Given the description of an element on the screen output the (x, y) to click on. 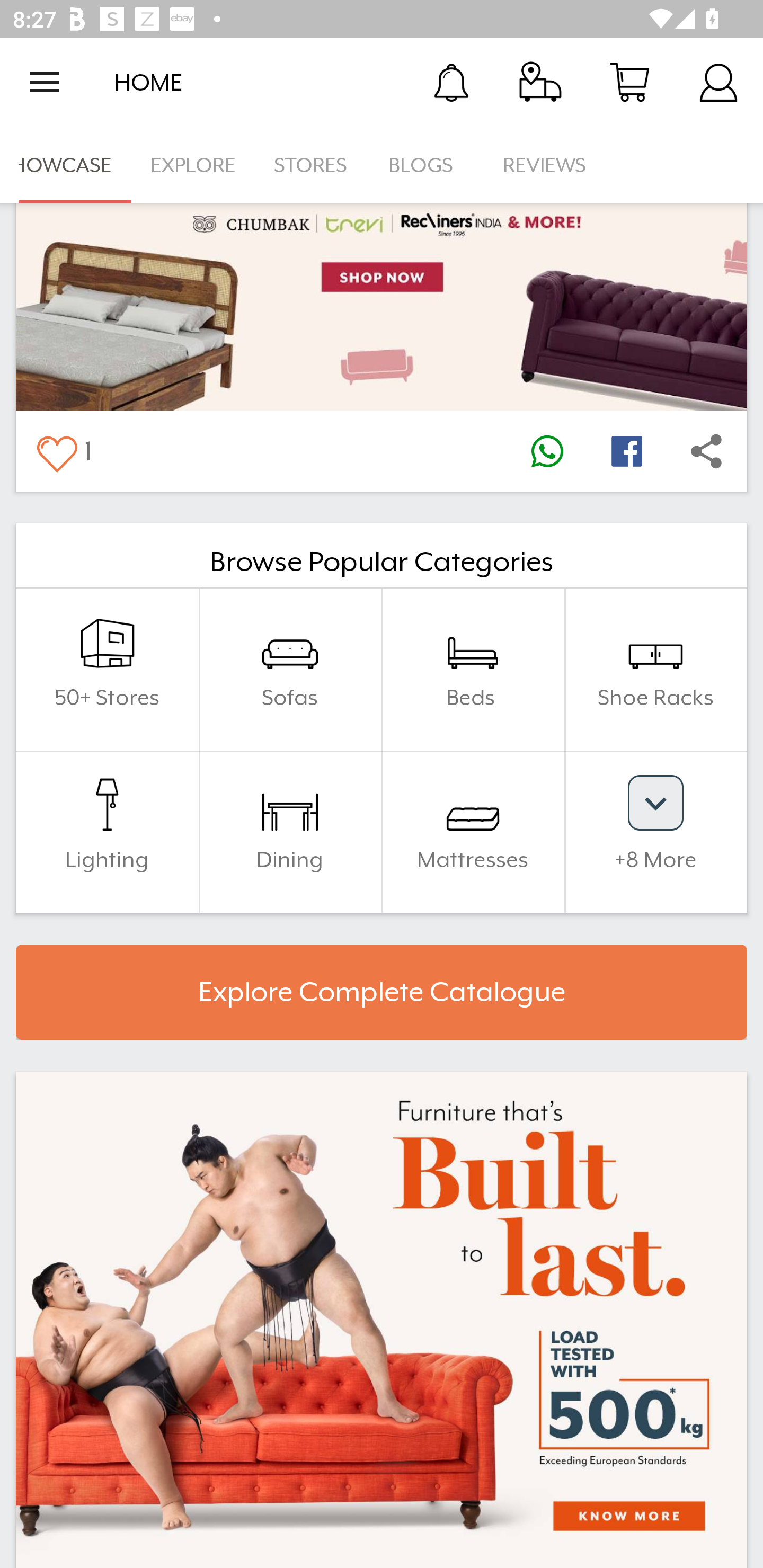
Open navigation drawer (44, 82)
Notification (450, 81)
Track Order (540, 81)
Cart (629, 81)
Account Details (718, 81)
SHOWCASE (65, 165)
EXPLORE (192, 165)
STORES (311, 165)
BLOGS (426, 165)
REVIEWS (544, 165)
 (55, 450)
 (547, 450)
 (626, 450)
 (706, 450)
50+ Stores (106, 669)
Sofas (289, 669)
Beds  (473, 669)
Shoe Racks (655, 669)
Lighting (106, 831)
Dining (289, 831)
Mattresses (473, 831)
 +8 More (655, 831)
Explore Complete Catalogue (381, 991)
